Given the description of an element on the screen output the (x, y) to click on. 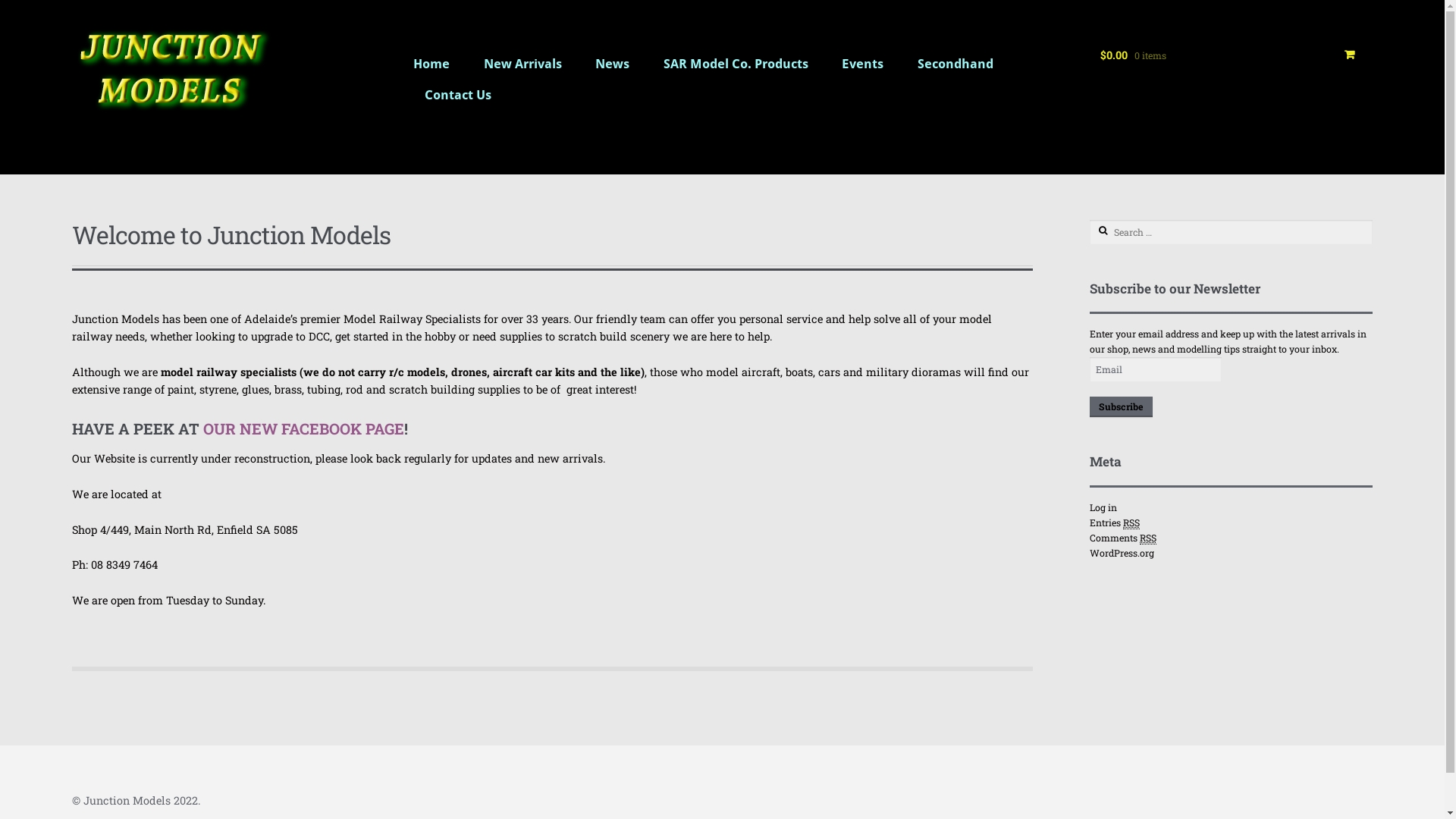
Home Element type: text (431, 69)
Entries RSS Element type: text (1114, 522)
Skip to content Element type: text (111, 37)
Events Element type: text (862, 69)
Search Element type: text (1114, 230)
SAR Model Co. Products Element type: text (736, 69)
Subscribe Element type: text (1120, 406)
New Arrivals Element type: text (522, 69)
Skip to navigation Element type: text (120, 37)
OUR NEW FACEBOOK PAGE Element type: text (301, 428)
Email Element type: text (1155, 368)
Comments RSS Element type: text (1122, 537)
News Element type: text (612, 69)
Secondhand Element type: text (955, 69)
WordPress.org Element type: text (1121, 552)
Log in Element type: text (1103, 507)
Contact Us Element type: text (457, 101)
$0.00 0 items Element type: text (1230, 60)
